Given the description of an element on the screen output the (x, y) to click on. 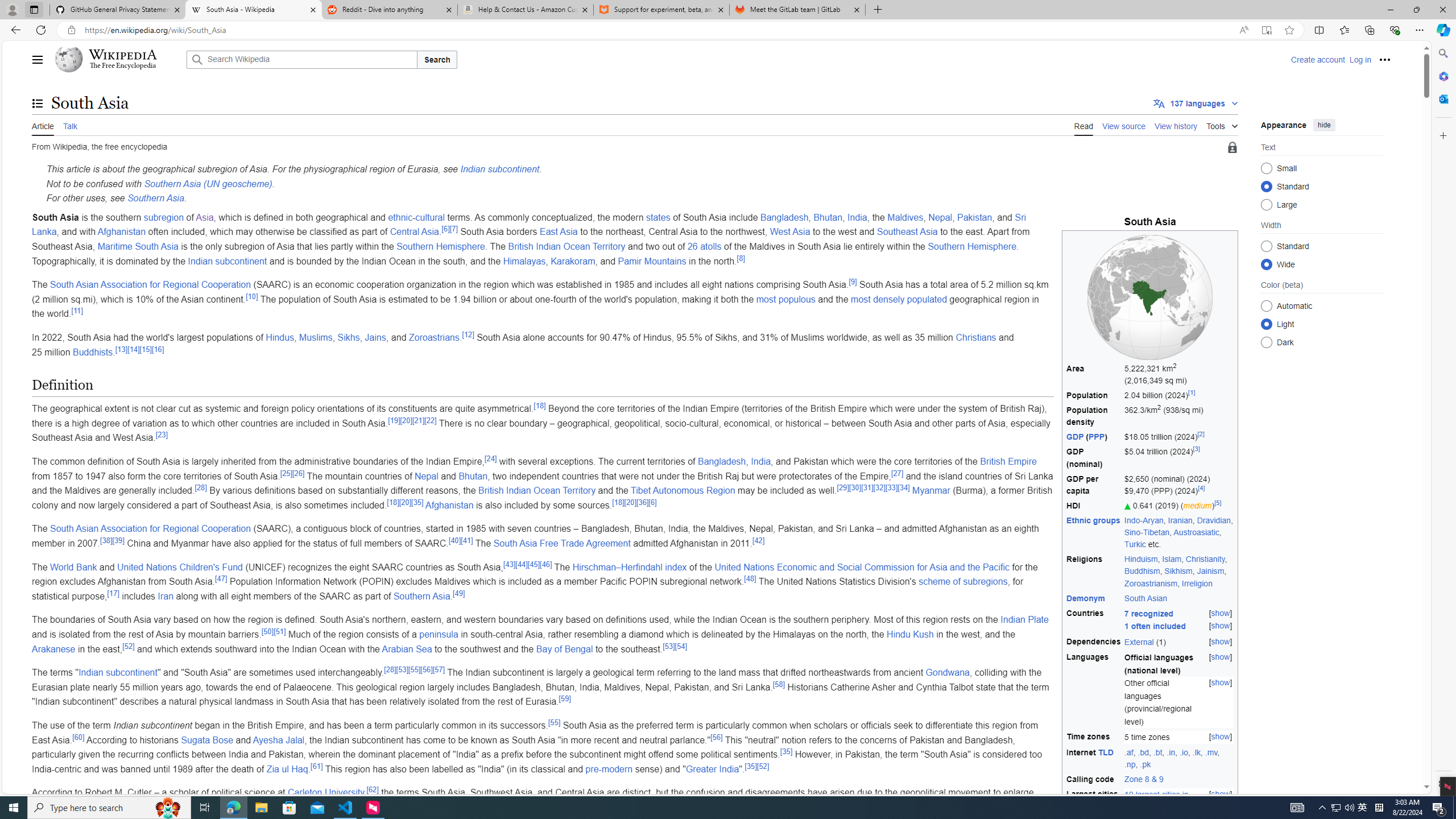
GDP per capita (1093, 484)
.np (1129, 764)
Arakanese (53, 648)
[6] (651, 501)
South Asia Free Trade Agreement (561, 542)
